Given the description of an element on the screen output the (x, y) to click on. 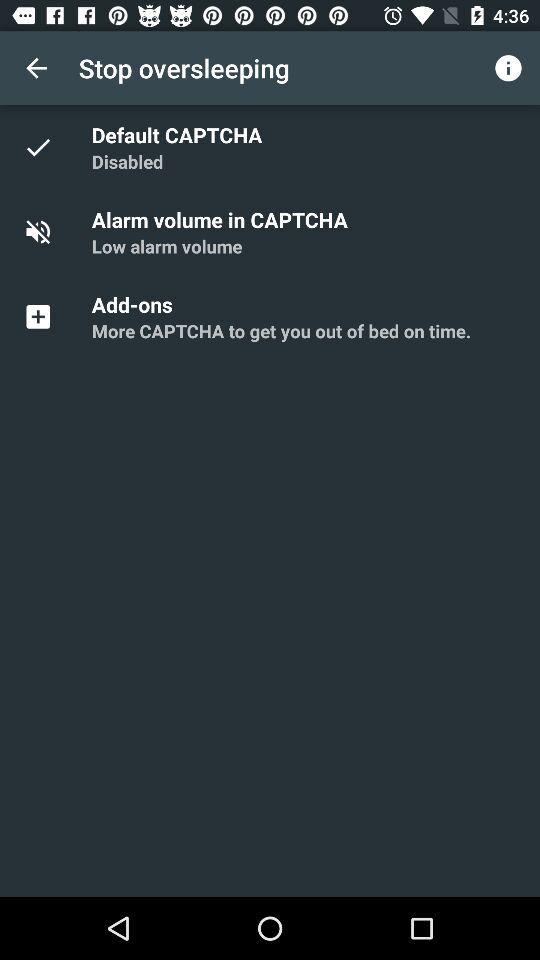
choose item next to stop oversleeping (36, 68)
